Given the description of an element on the screen output the (x, y) to click on. 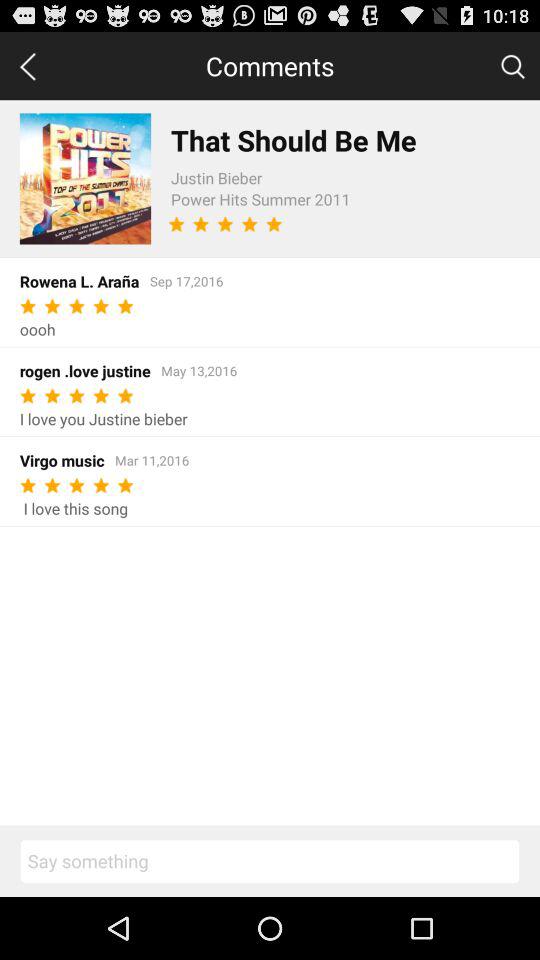
search for other things (512, 65)
